Given the description of an element on the screen output the (x, y) to click on. 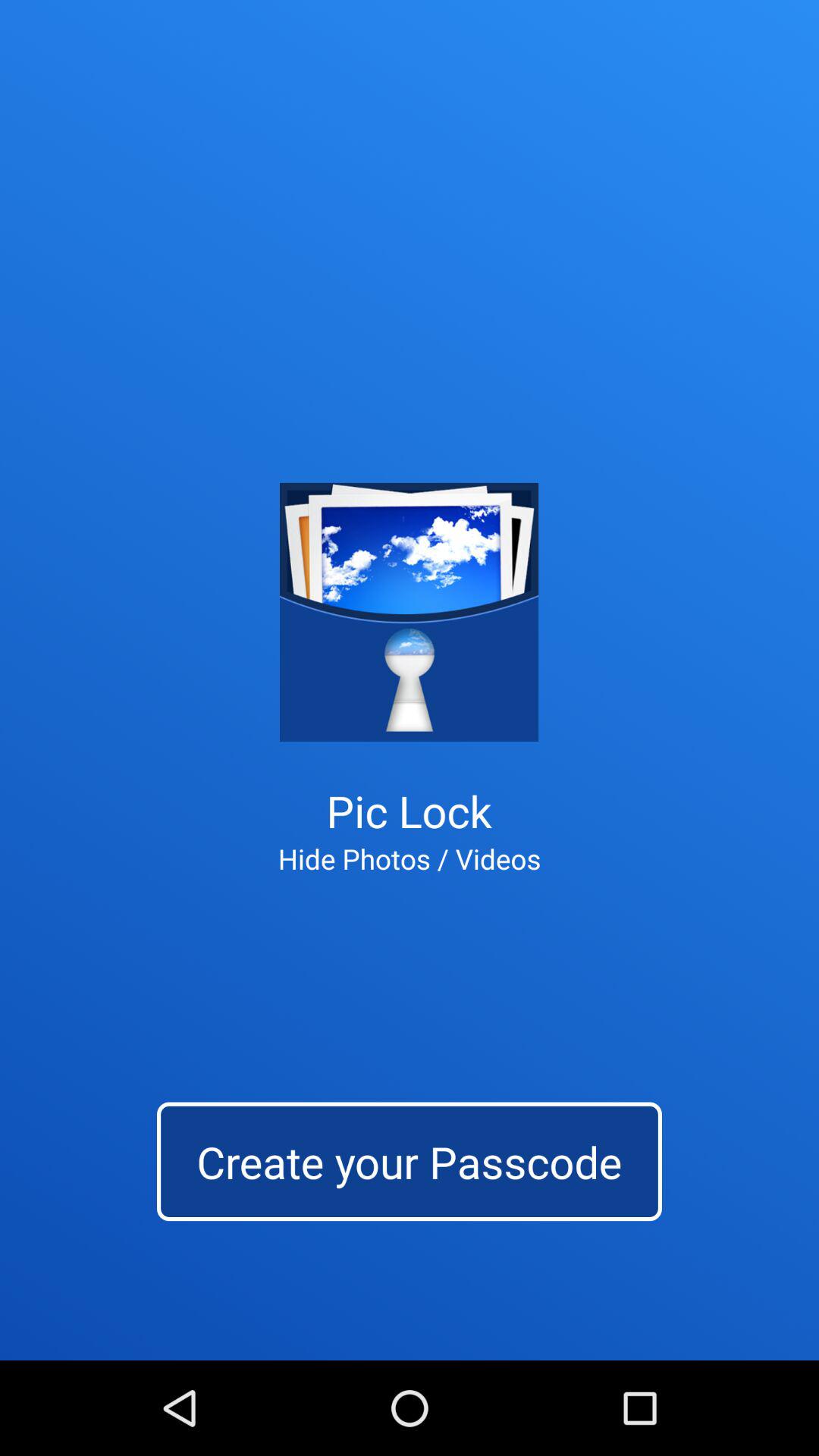
click create your passcode item (409, 1161)
